Given the description of an element on the screen output the (x, y) to click on. 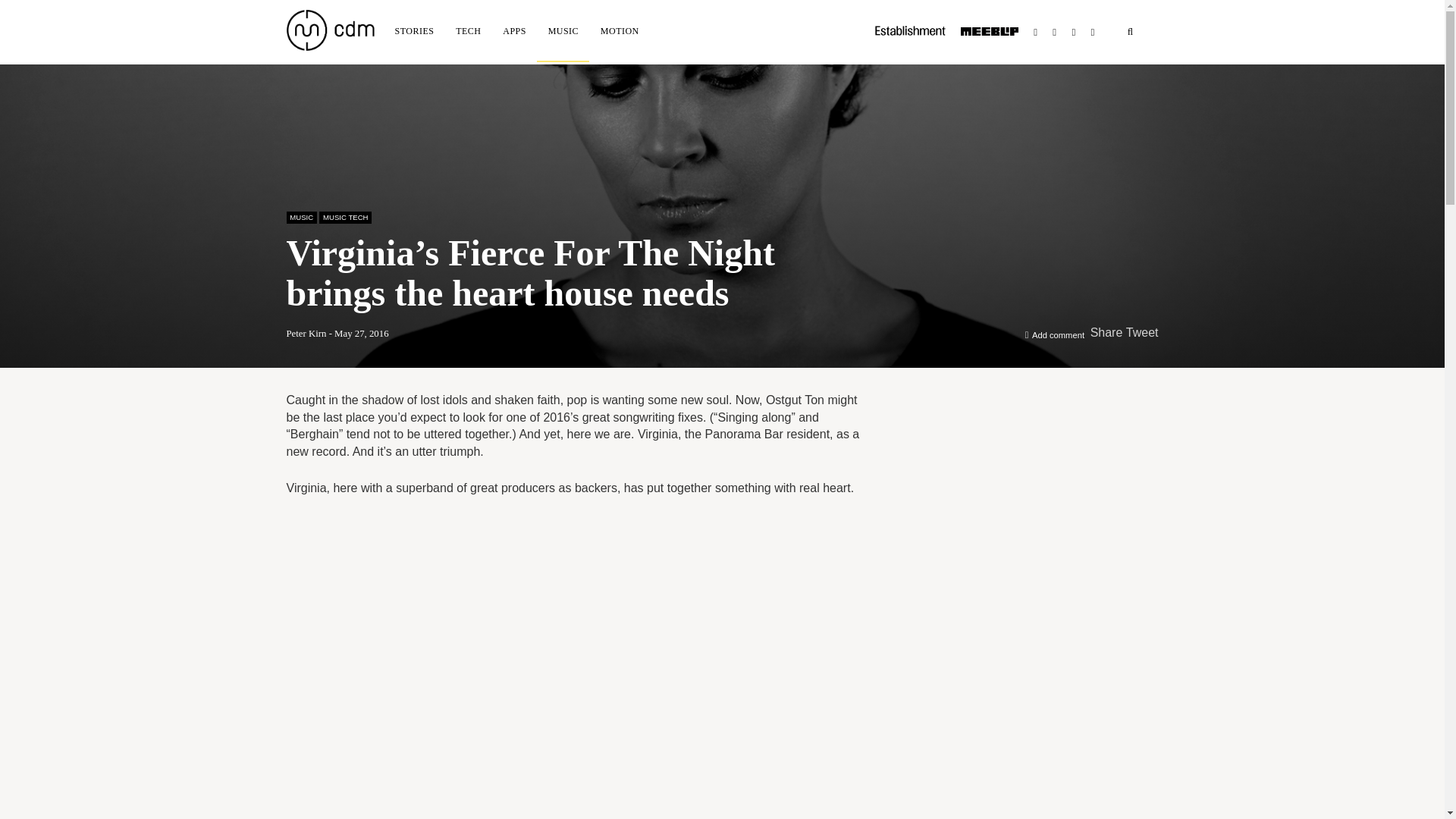
MOTION (619, 30)
Tweet (1141, 332)
Add comment (1058, 334)
Share (1106, 332)
search (1130, 32)
MUSIC TECH (344, 217)
MUSIC (301, 217)
STORIES (414, 30)
